Given the description of an element on the screen output the (x, y) to click on. 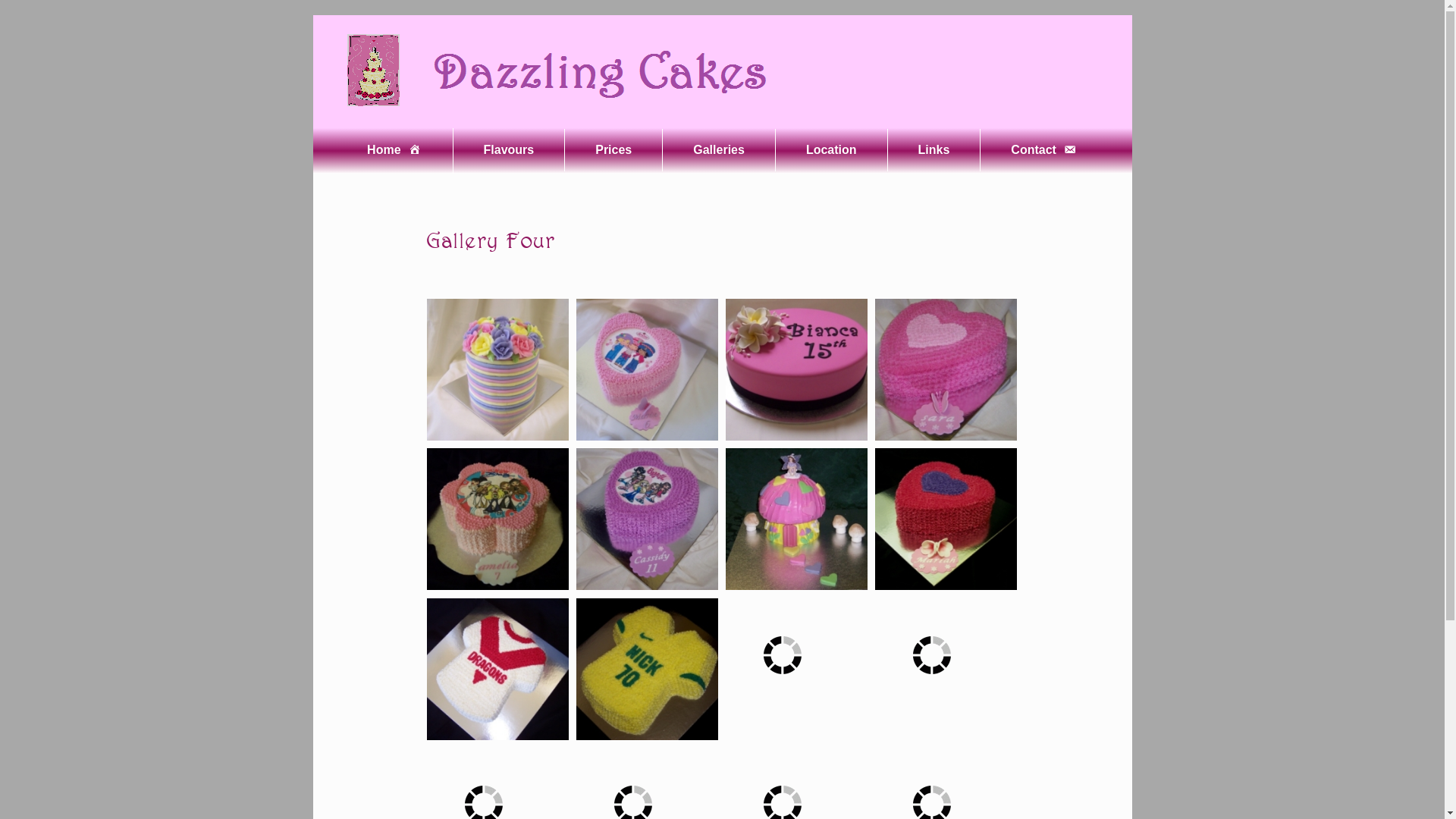
Flavours Element type: text (508, 149)
Prices Element type: text (613, 149)
Contact Element type: text (1043, 150)
Galleries Element type: text (718, 149)
Links Element type: text (934, 149)
Location Element type: text (831, 149)
Home Element type: text (393, 150)
Dazzling Cakes | Sydney Element type: hover (555, 71)
